Given the description of an element on the screen output the (x, y) to click on. 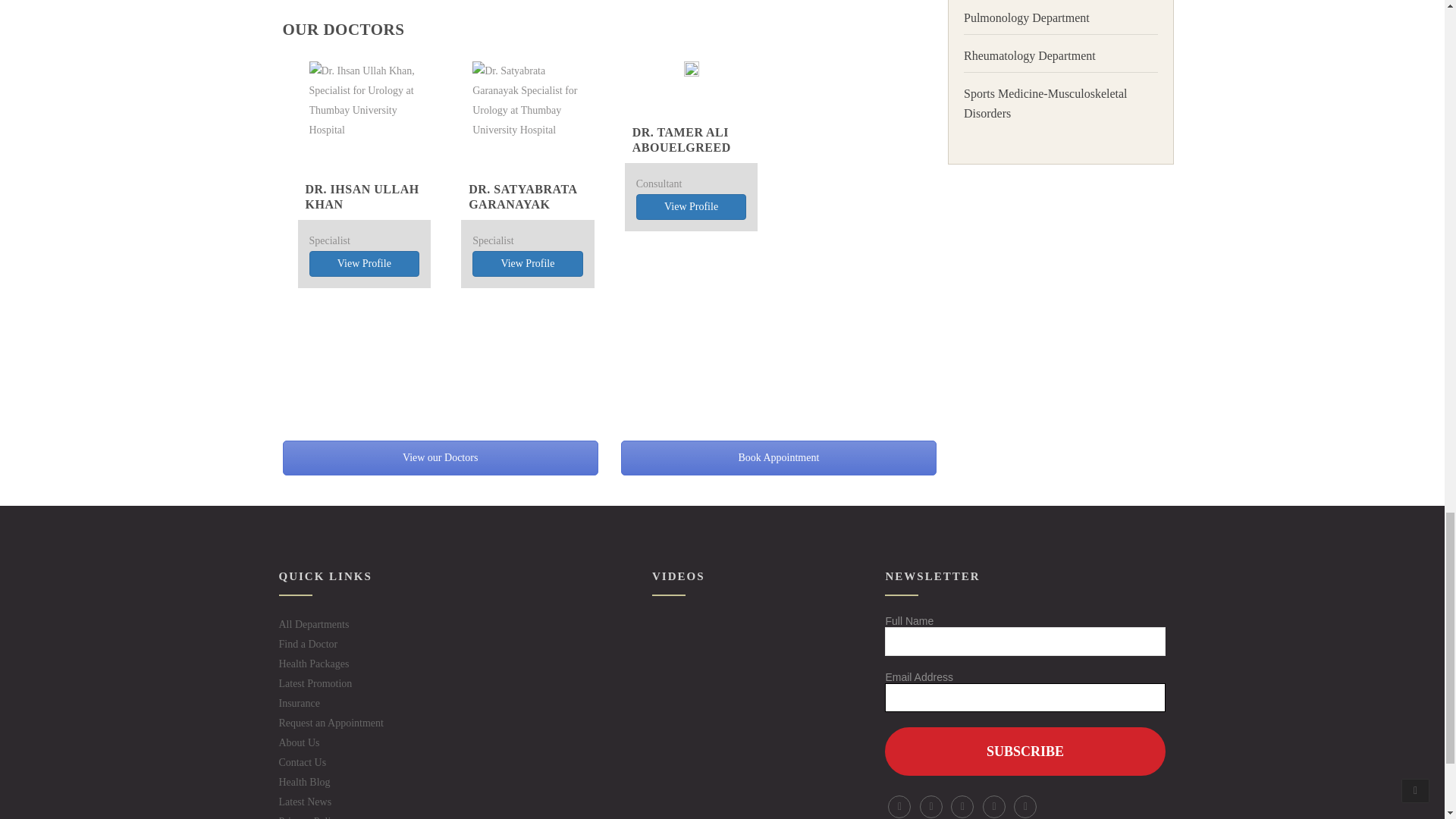
YouTube video player (722, 783)
Subscribe (1025, 751)
YouTube video player (722, 671)
